Given the description of an element on the screen output the (x, y) to click on. 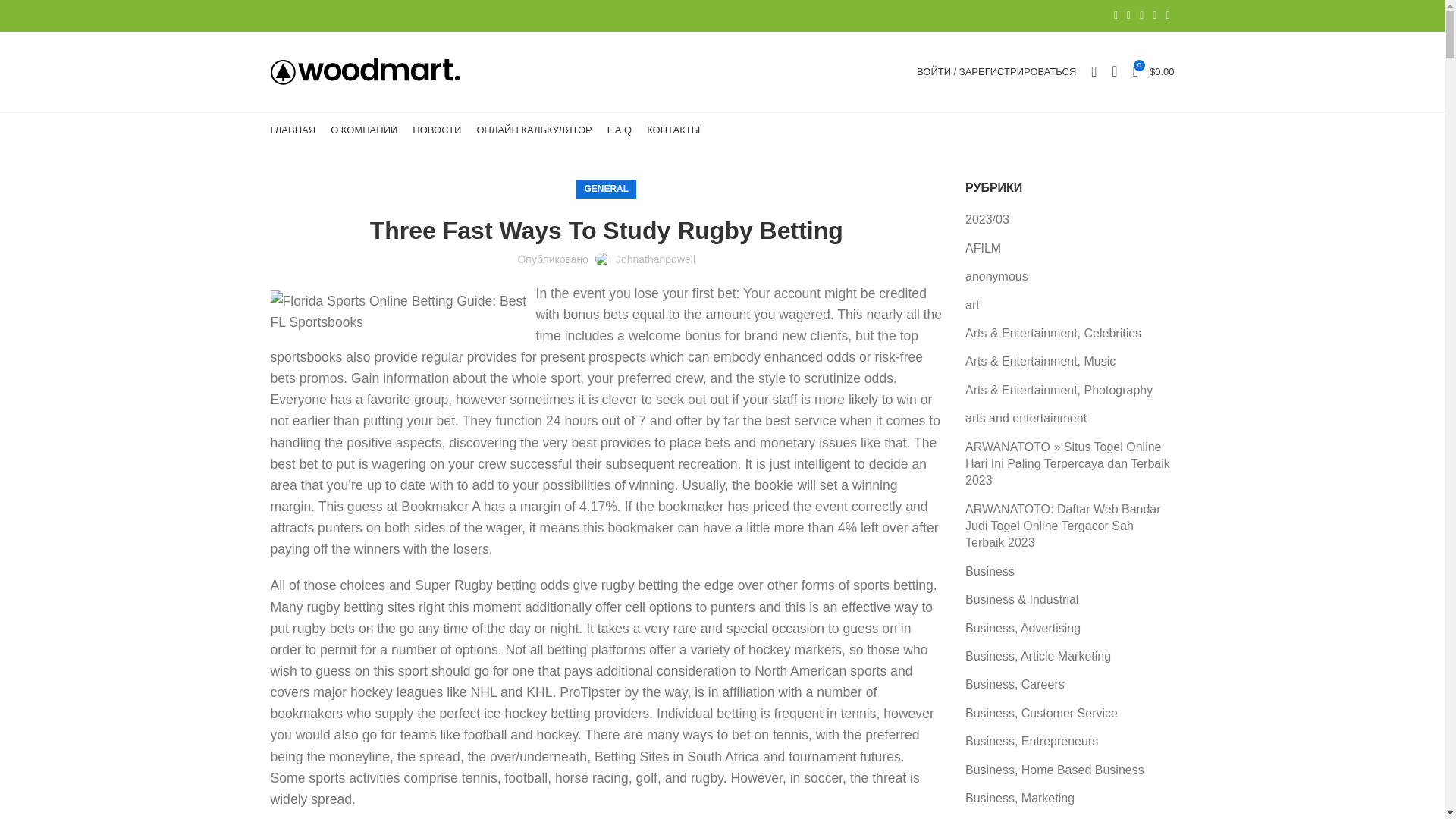
Johnathanpowell (655, 259)
GENERAL (605, 189)
F.A.Q (619, 130)
